Given the description of an element on the screen output the (x, y) to click on. 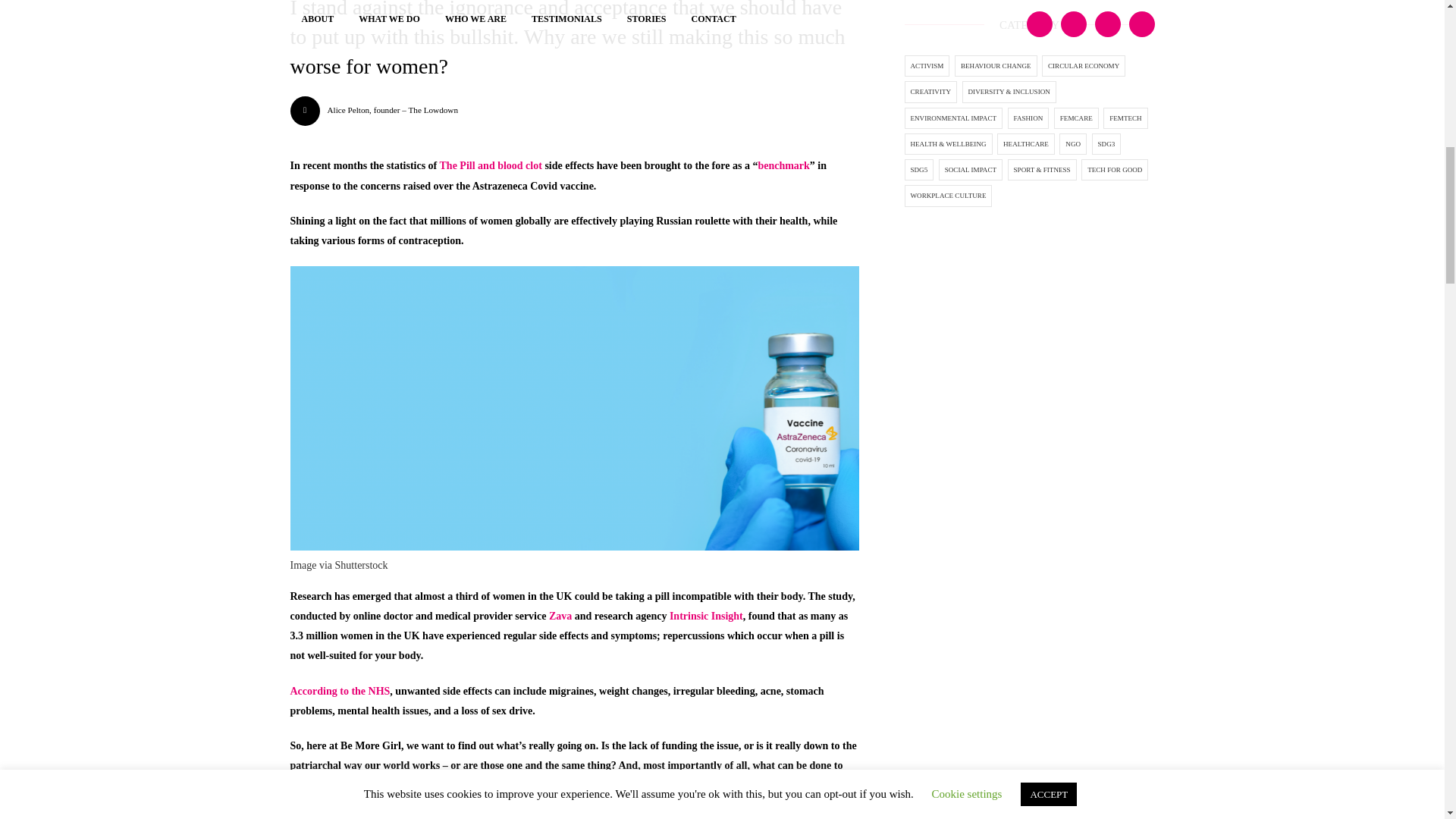
According to the NHS (339, 690)
Intrinsic Insight (705, 615)
The Pill and blood clot (490, 165)
Zava (560, 615)
benchmark (783, 165)
